Given the description of an element on the screen output the (x, y) to click on. 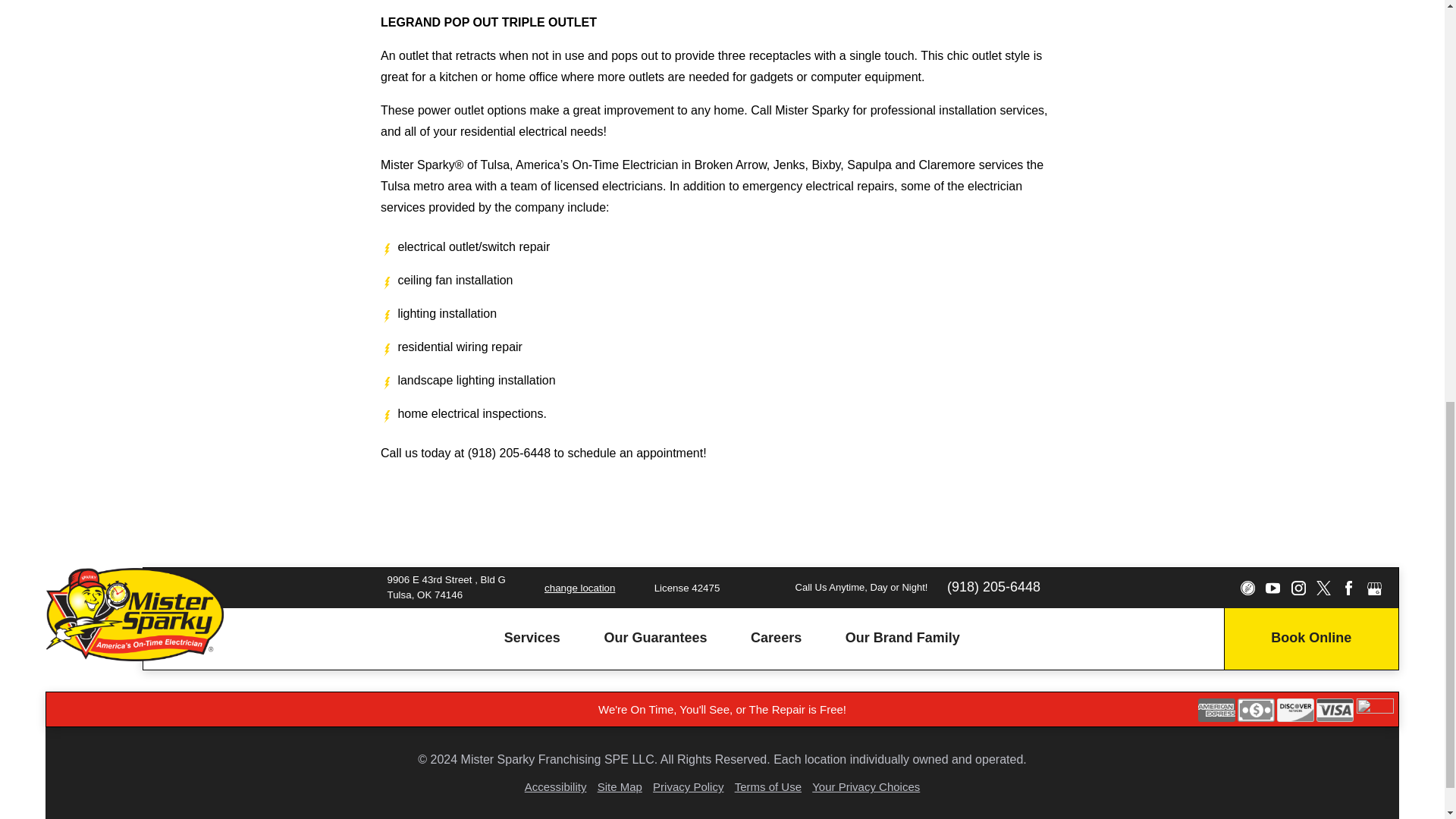
CareerPlug (1247, 587)
Facebook (1347, 587)
Twitter (1323, 587)
Google My Business (1374, 587)
Instagram (1297, 587)
YouTube (1272, 587)
